Given the description of an element on the screen output the (x, y) to click on. 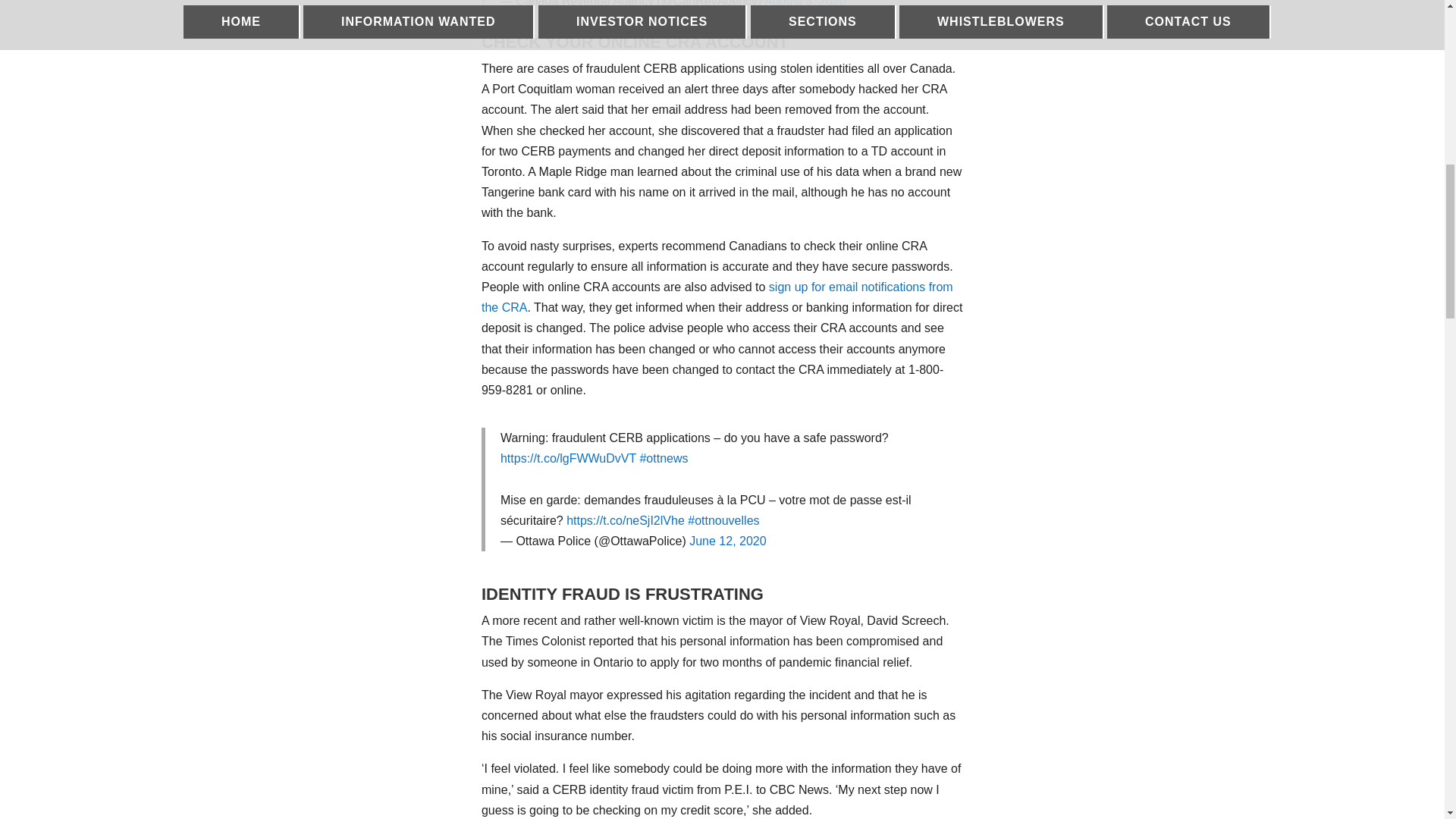
August 3, 2020 (804, 3)
June 12, 2020 (726, 540)
sign up for email notifications from the CRA (717, 296)
